Given the description of an element on the screen output the (x, y) to click on. 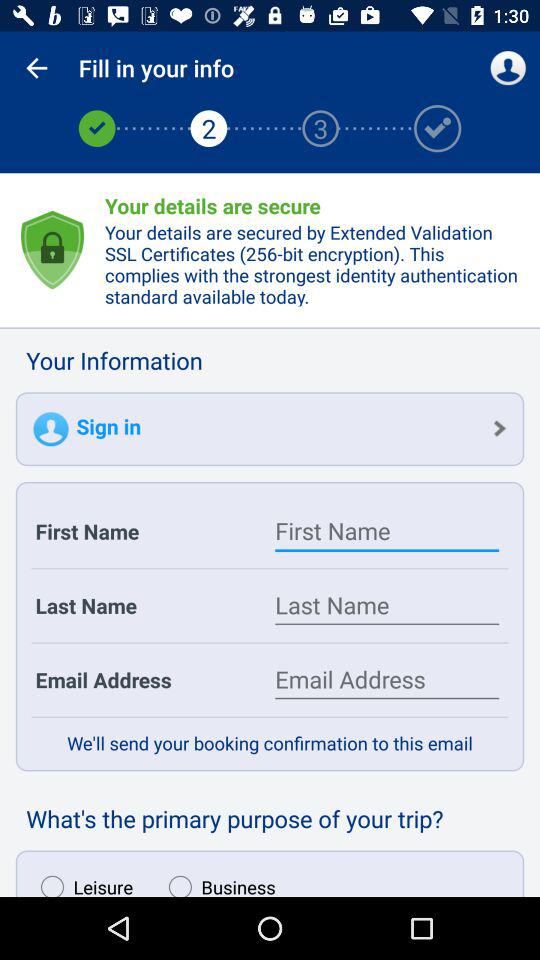
enter first name (387, 531)
